Given the description of an element on the screen output the (x, y) to click on. 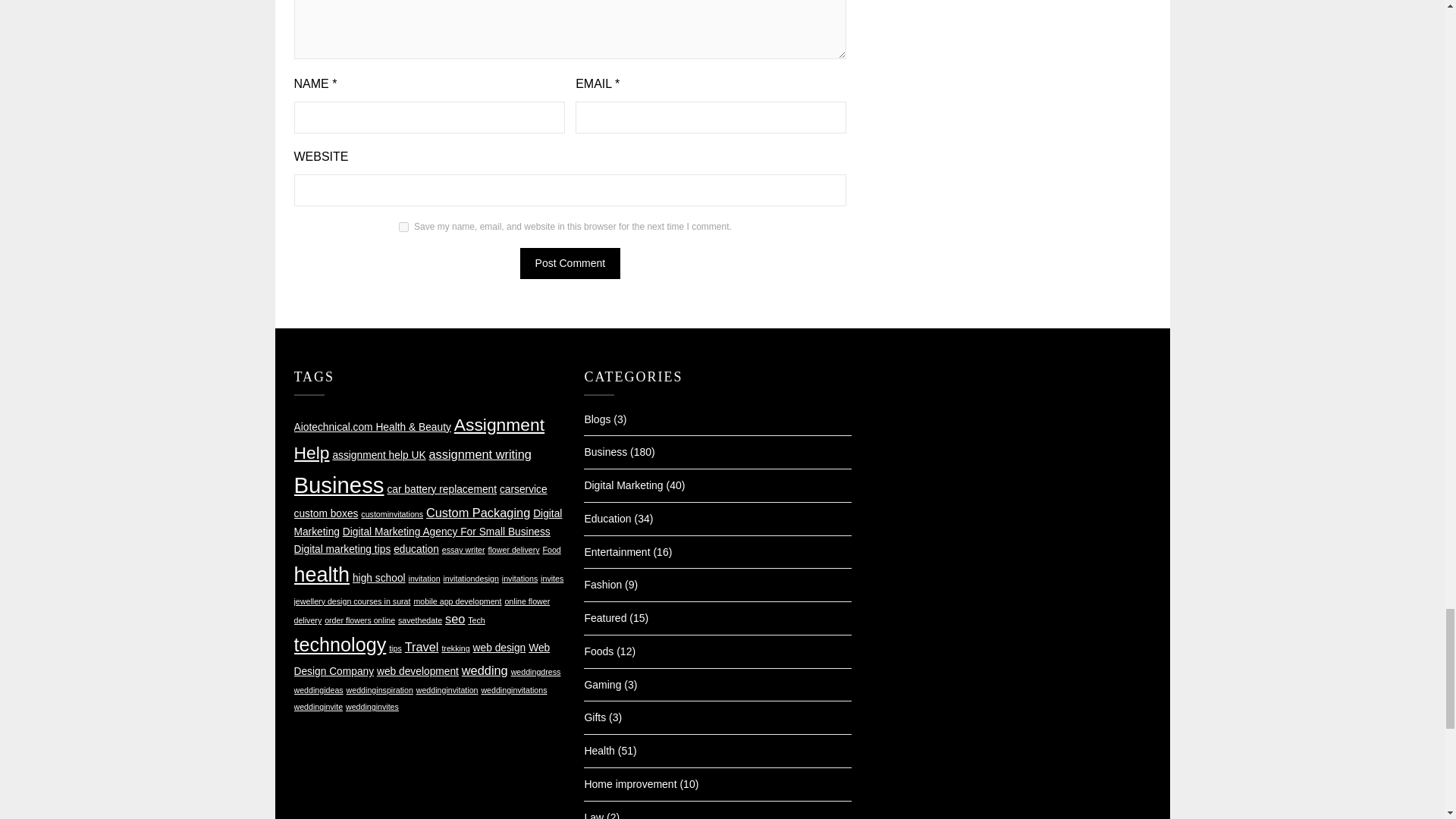
order flowers online (359, 619)
online flower delivery (422, 611)
Digital marketing tips (342, 549)
health (322, 574)
education (416, 549)
invitation (425, 578)
jewellery design courses in surat (352, 601)
custominvitations (392, 513)
mobile app development (456, 601)
invites (551, 578)
